Given the description of an element on the screen output the (x, y) to click on. 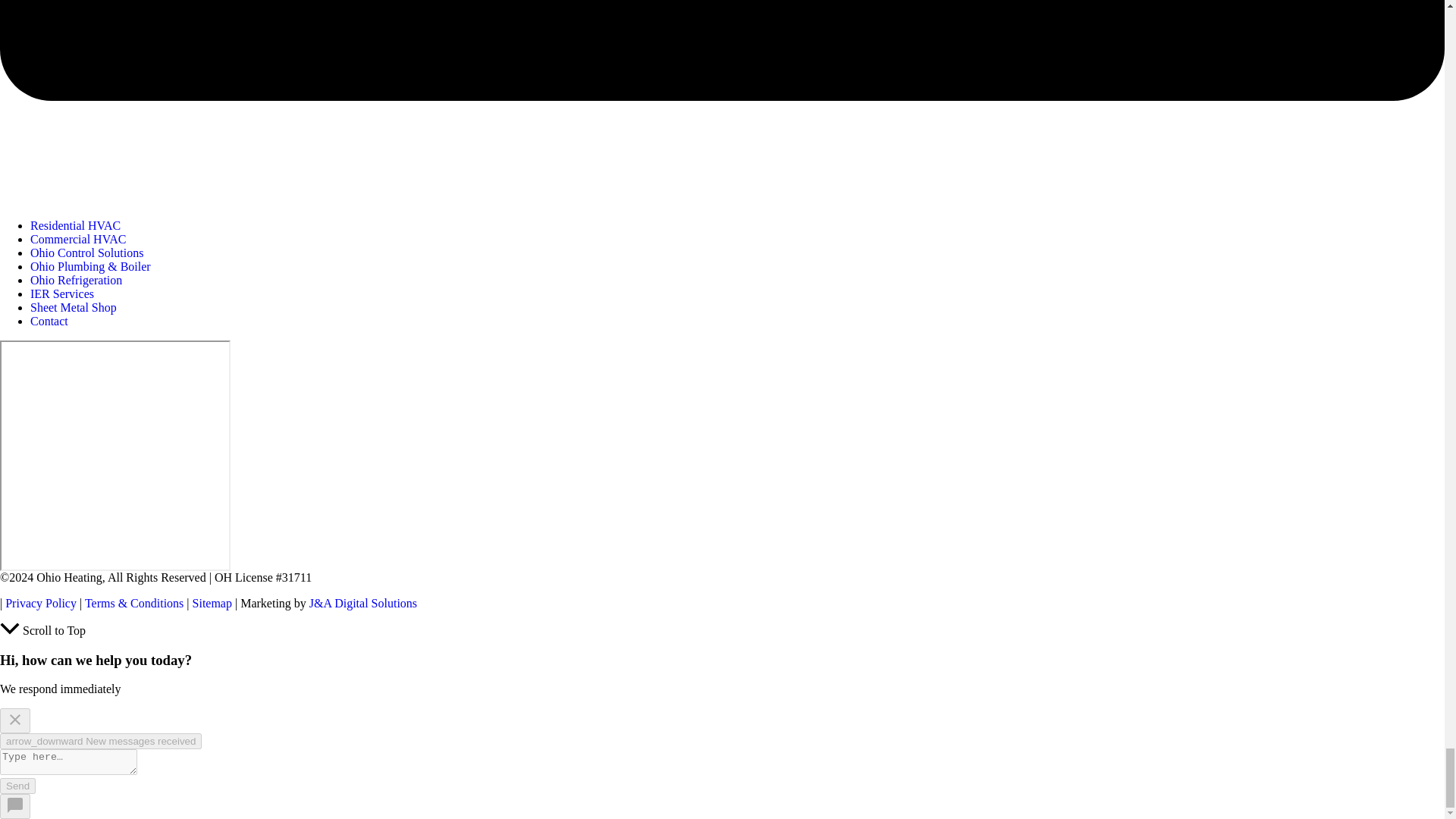
1624 CLARA STREET COLUMBUS OH 43211 (115, 455)
